Given the description of an element on the screen output the (x, y) to click on. 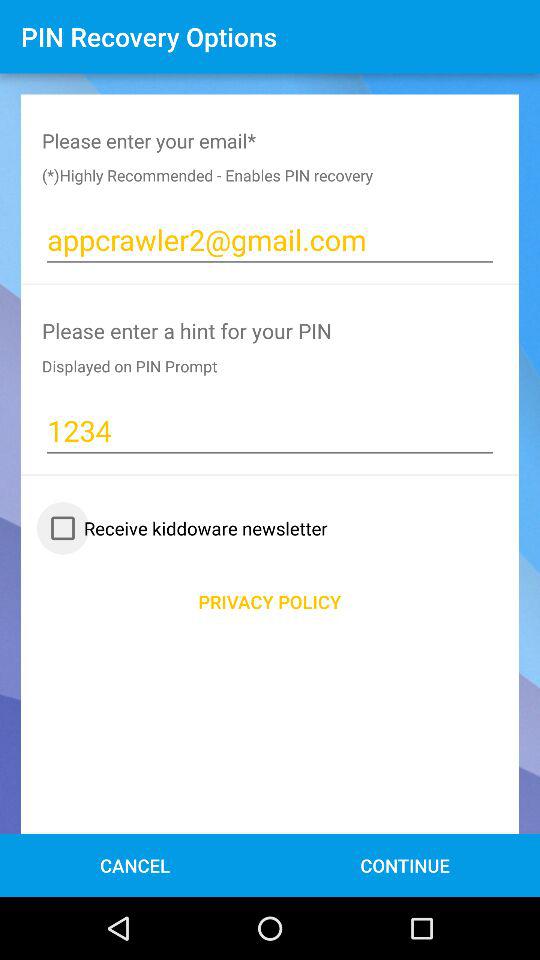
jump until the continue icon (404, 864)
